Given the description of an element on the screen output the (x, y) to click on. 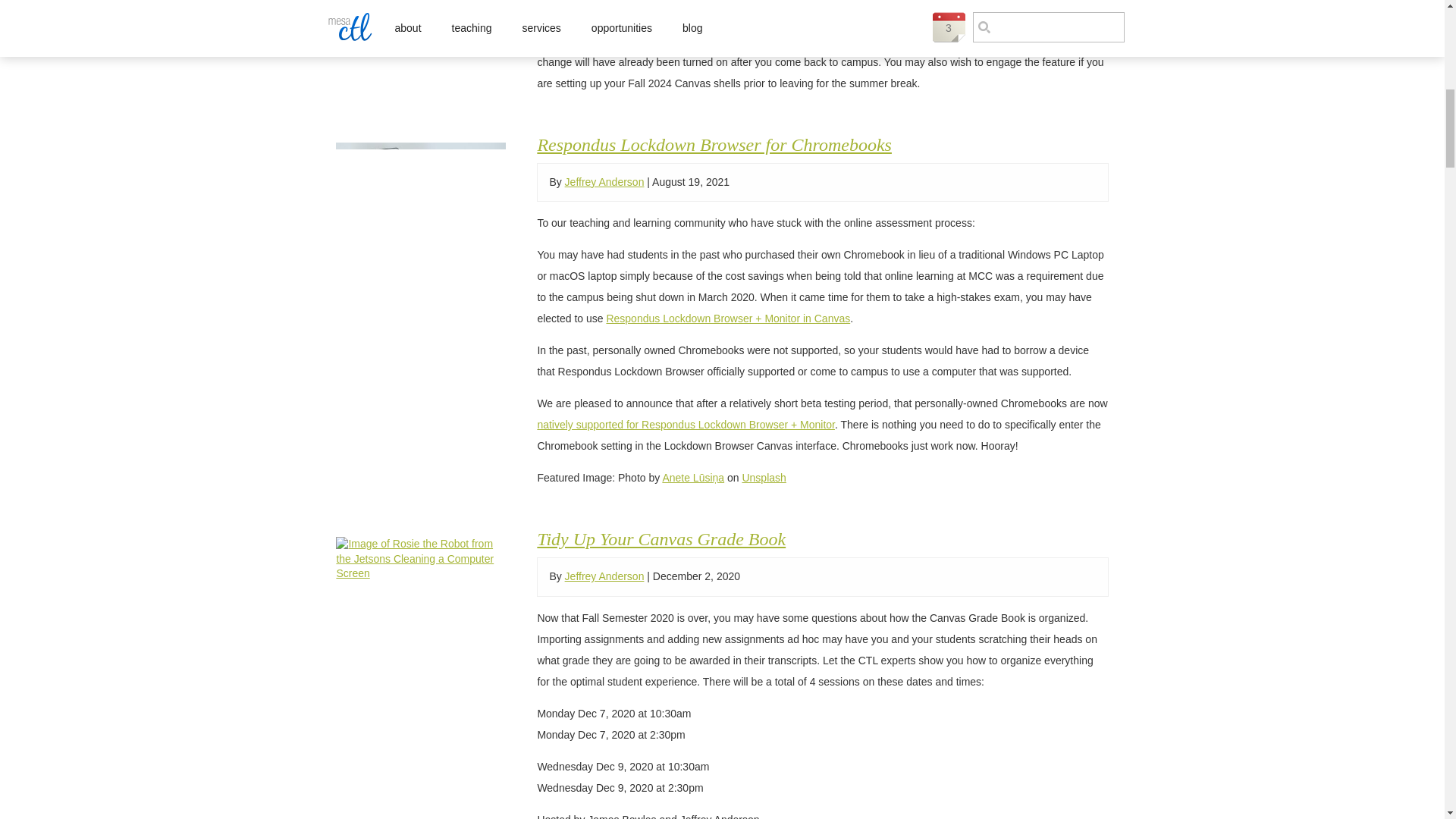
Respondus Lockdown Browser for Chromebooks (420, 198)
Tidy Up Your Canvas Grade Book (420, 559)
View all posts by Jeffrey Anderson (604, 576)
View all posts by Jeffrey Anderson (604, 182)
Tidy Up Your Canvas Grade Book (661, 538)
Respondus Lockdown Browser for Chromebooks (714, 144)
